Given the description of an element on the screen output the (x, y) to click on. 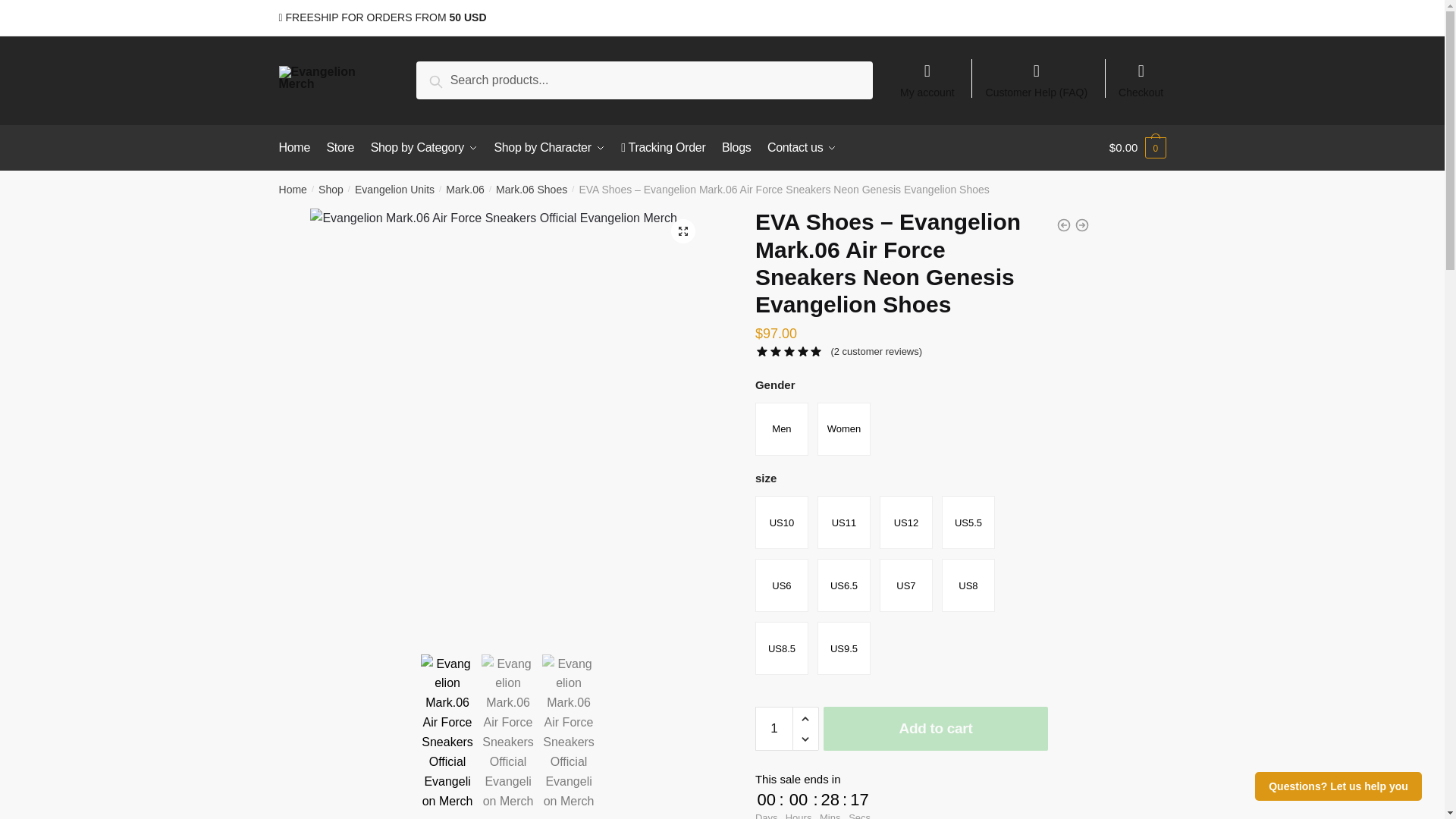
Search (454, 78)
View your shopping cart (1137, 147)
My account (927, 73)
Shop by Category (424, 147)
Checkout (1141, 73)
